Given the description of an element on the screen output the (x, y) to click on. 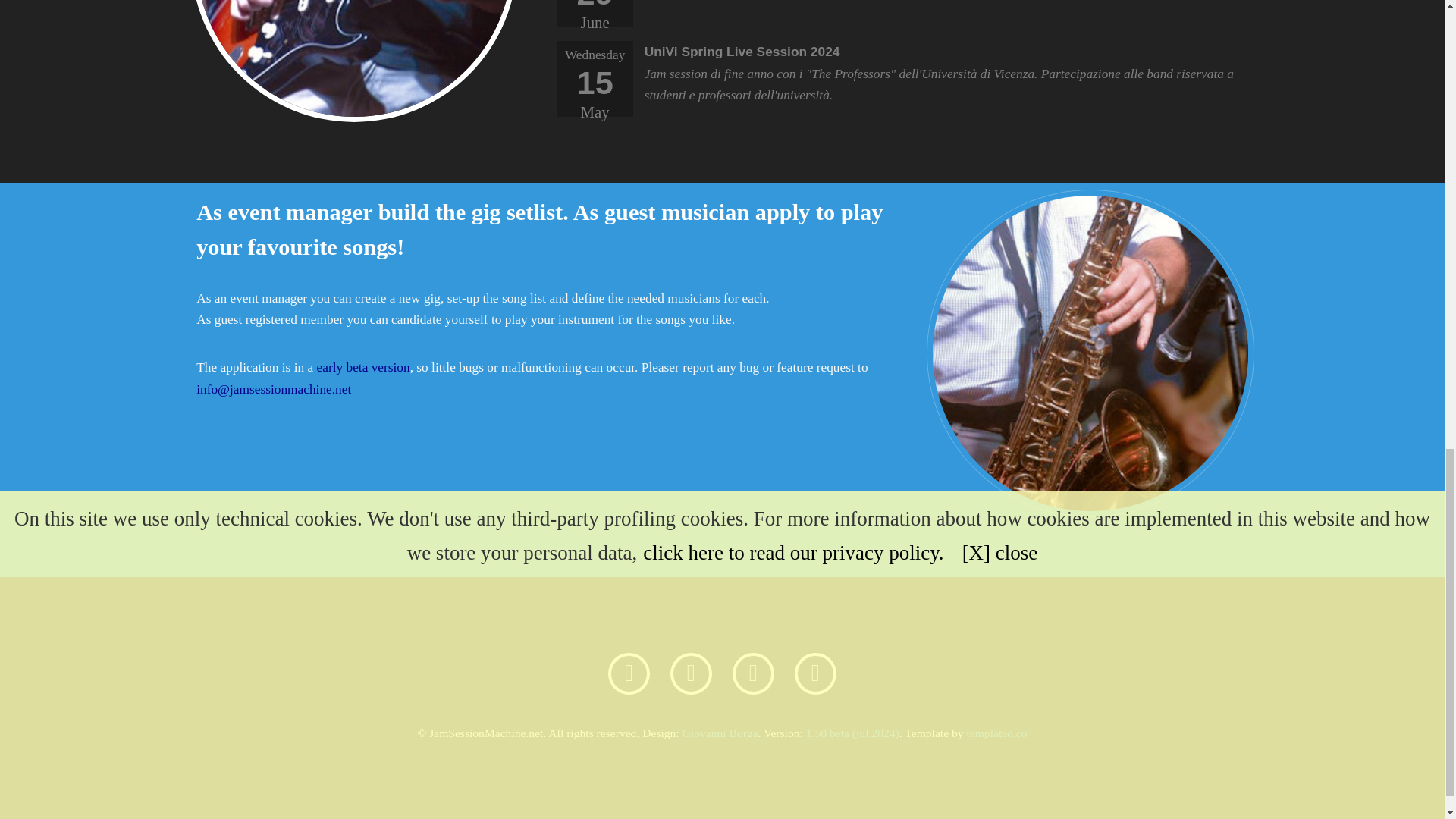
templated.co (996, 732)
early beta version (363, 367)
Giovanni Borga (720, 732)
